Given the description of an element on the screen output the (x, y) to click on. 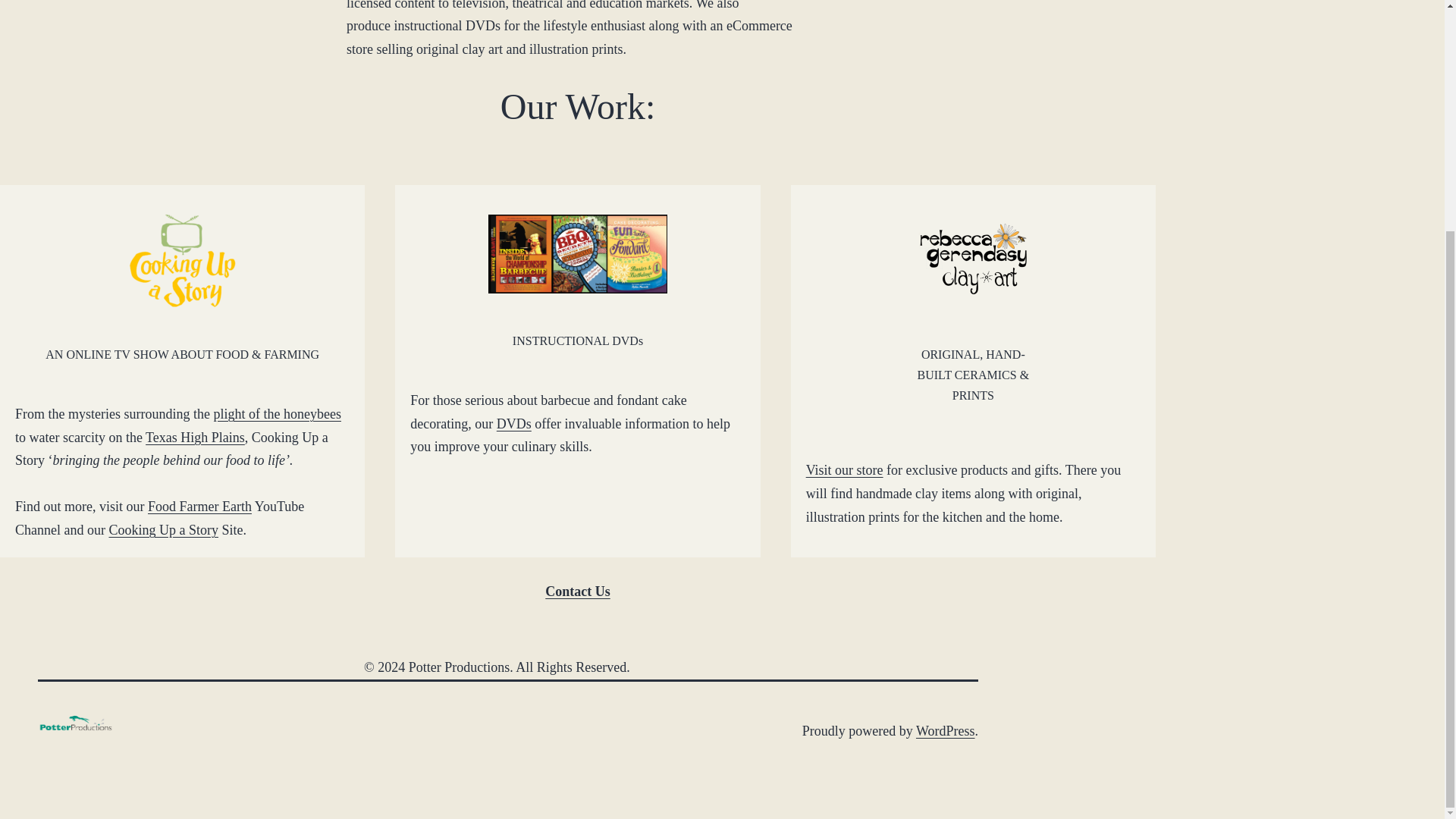
Food Farmer Earth (199, 506)
Cooking Up a Story (162, 529)
Contact Us (577, 590)
plight of the honeybees (276, 413)
Texas High Plains (194, 437)
DVDs (513, 423)
WordPress (945, 730)
Visit our store (844, 469)
